Given the description of an element on the screen output the (x, y) to click on. 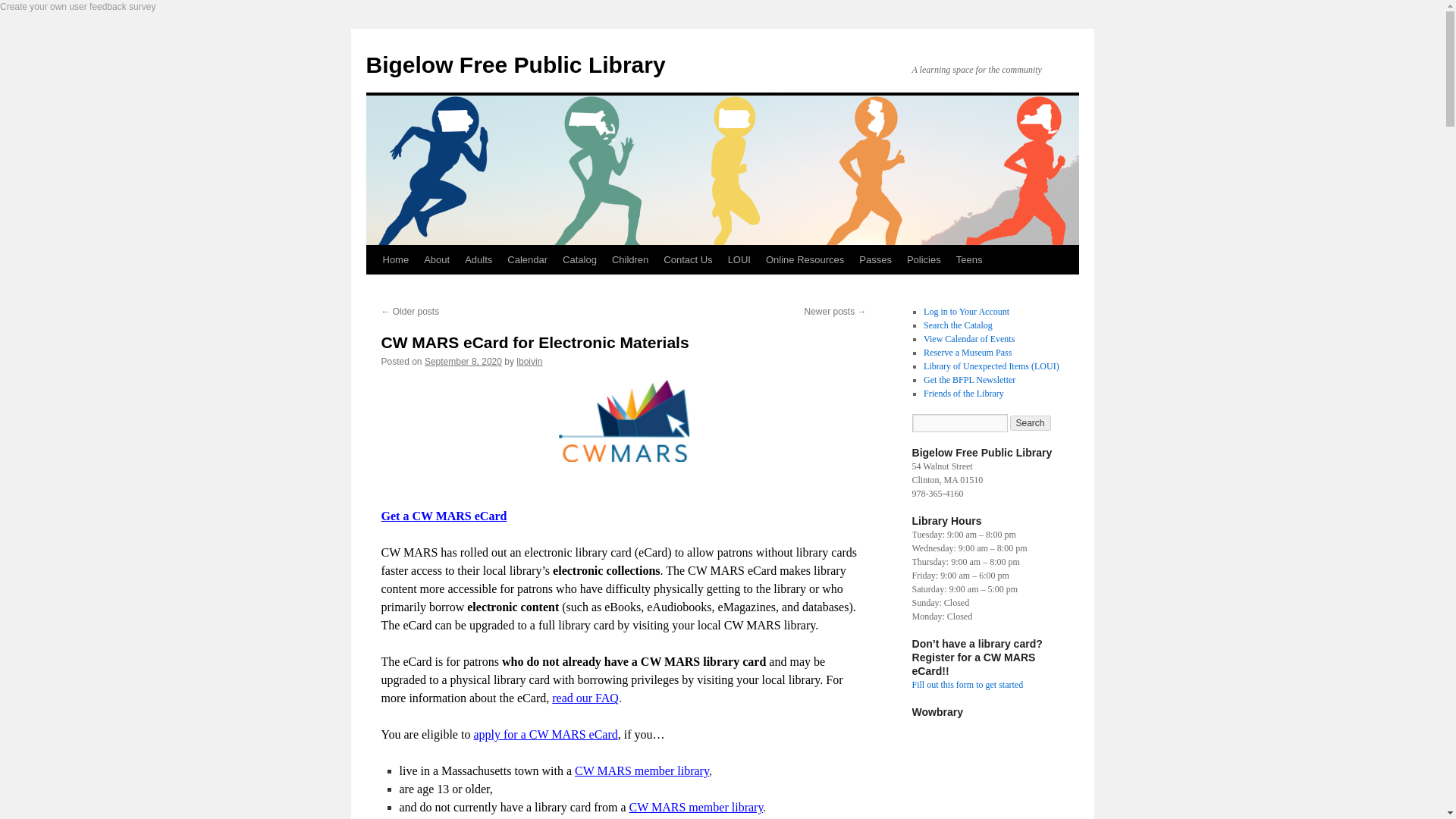
View all posts by lboivin (528, 361)
8:53 pm (463, 361)
Home (395, 259)
Search (1030, 422)
Bigelow Free Public Library (515, 64)
Create your own user feedback survey (77, 6)
About (436, 259)
